Given the description of an element on the screen output the (x, y) to click on. 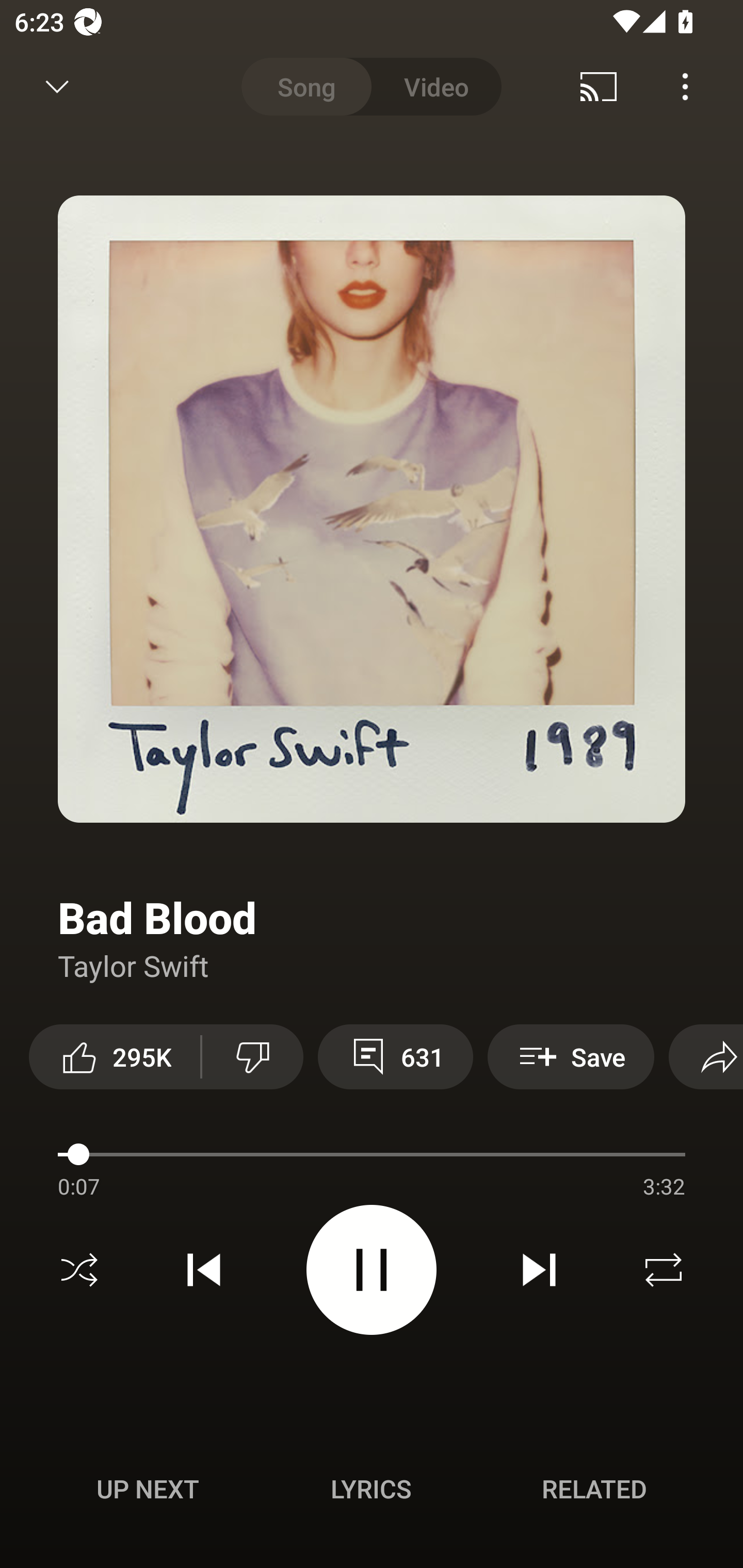
Minimize (57, 86)
Cast. Disconnected (598, 86)
Menu (684, 86)
Dislike (252, 1056)
631 View 631 comments (395, 1056)
Save Save to playlist (570, 1056)
Share (705, 1056)
Pause video (371, 1269)
Shuffle off (79, 1269)
Previous track (203, 1269)
Next track (538, 1269)
Repeat off (663, 1269)
Up next UP NEXT Lyrics LYRICS Related RELATED (371, 1491)
Lyrics LYRICS (370, 1488)
Related RELATED (594, 1488)
